Given the description of an element on the screen output the (x, y) to click on. 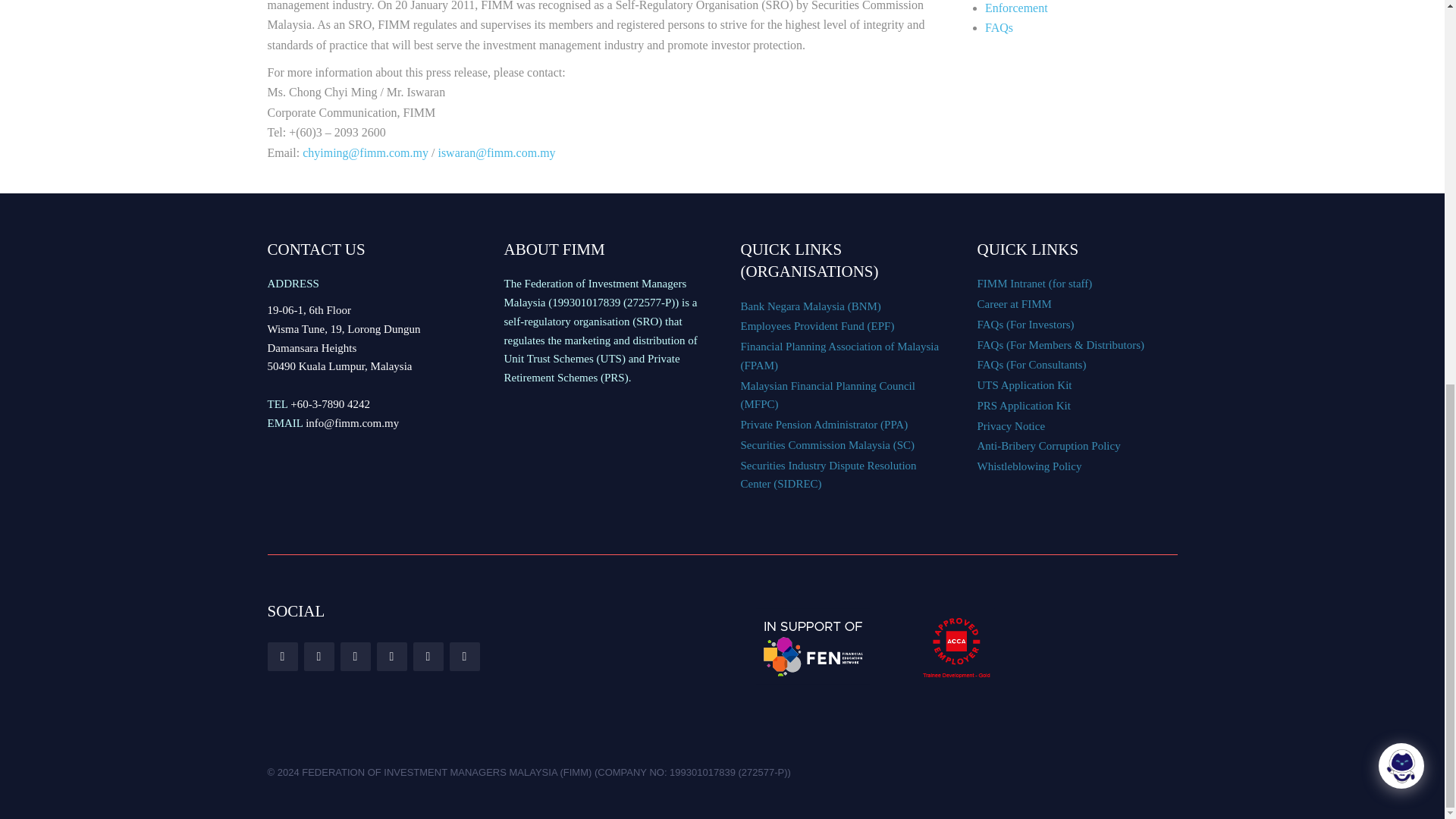
Chat with us! (1400, 44)
